Given the description of an element on the screen output the (x, y) to click on. 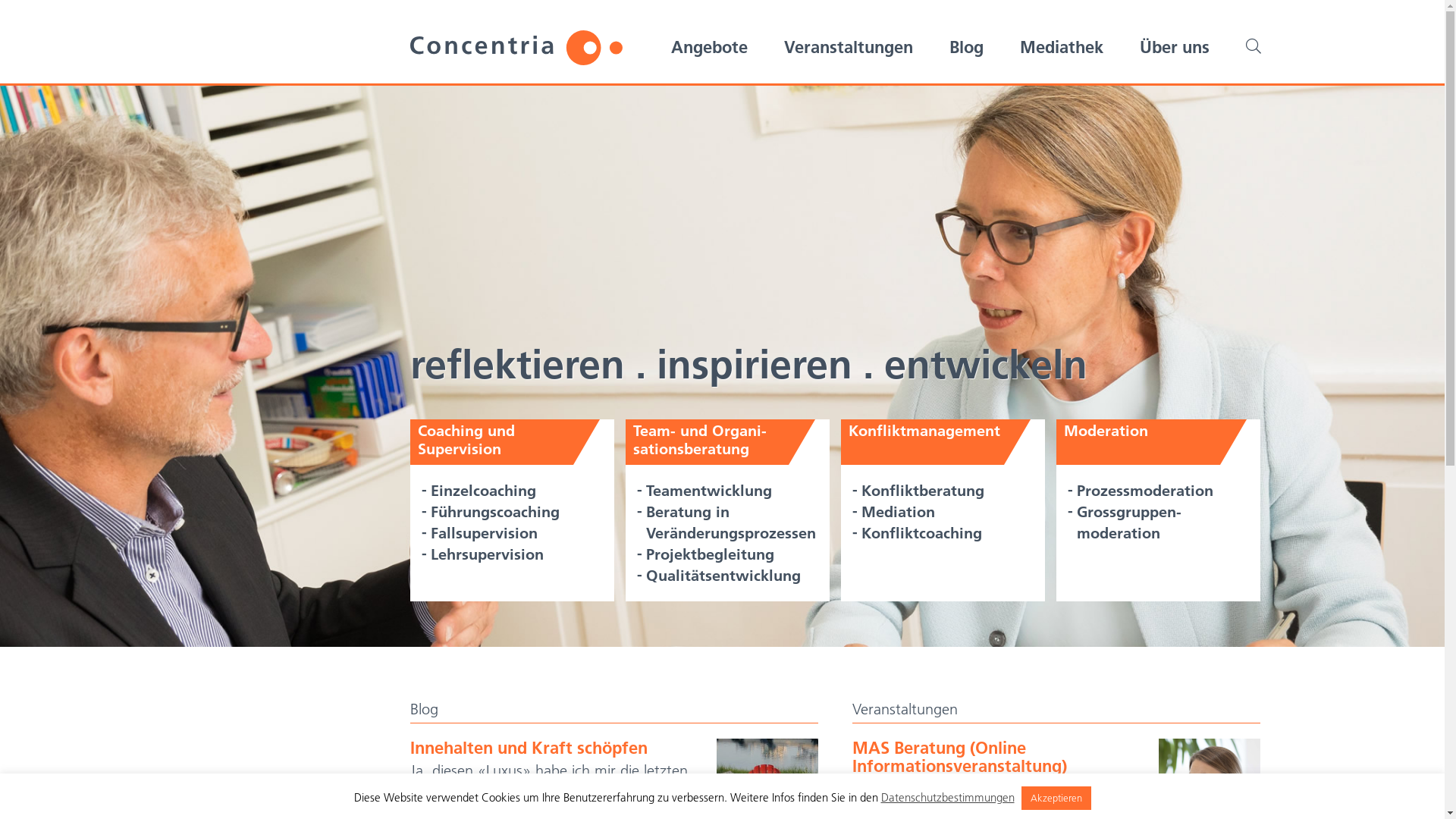
Projektbegleitung Element type: text (710, 554)
Lehrsupervision Element type: text (486, 554)
Einzelcoaching Element type: text (483, 490)
Angebote Element type: text (708, 46)
Mediathek Element type: text (1060, 46)
Datenschutzbestimmungen Element type: text (947, 797)
Blog Element type: text (966, 46)
Konfliktberatung Element type: text (922, 490)
MAS Beratung (Online Informationsveranstaltung) Element type: text (959, 756)
Teamentwicklung Element type: text (708, 490)
Konfliktcoaching Element type: text (921, 533)
Prozessmoderation Element type: text (1144, 490)
Fallsupervision Element type: text (483, 533)
Veranstaltungen Element type: text (848, 46)
Akzeptieren Element type: text (1055, 797)
Weiterlesen Element type: text (668, 806)
Suche Element type: text (1252, 37)
Mediation Element type: text (898, 511)
